Given the description of an element on the screen output the (x, y) to click on. 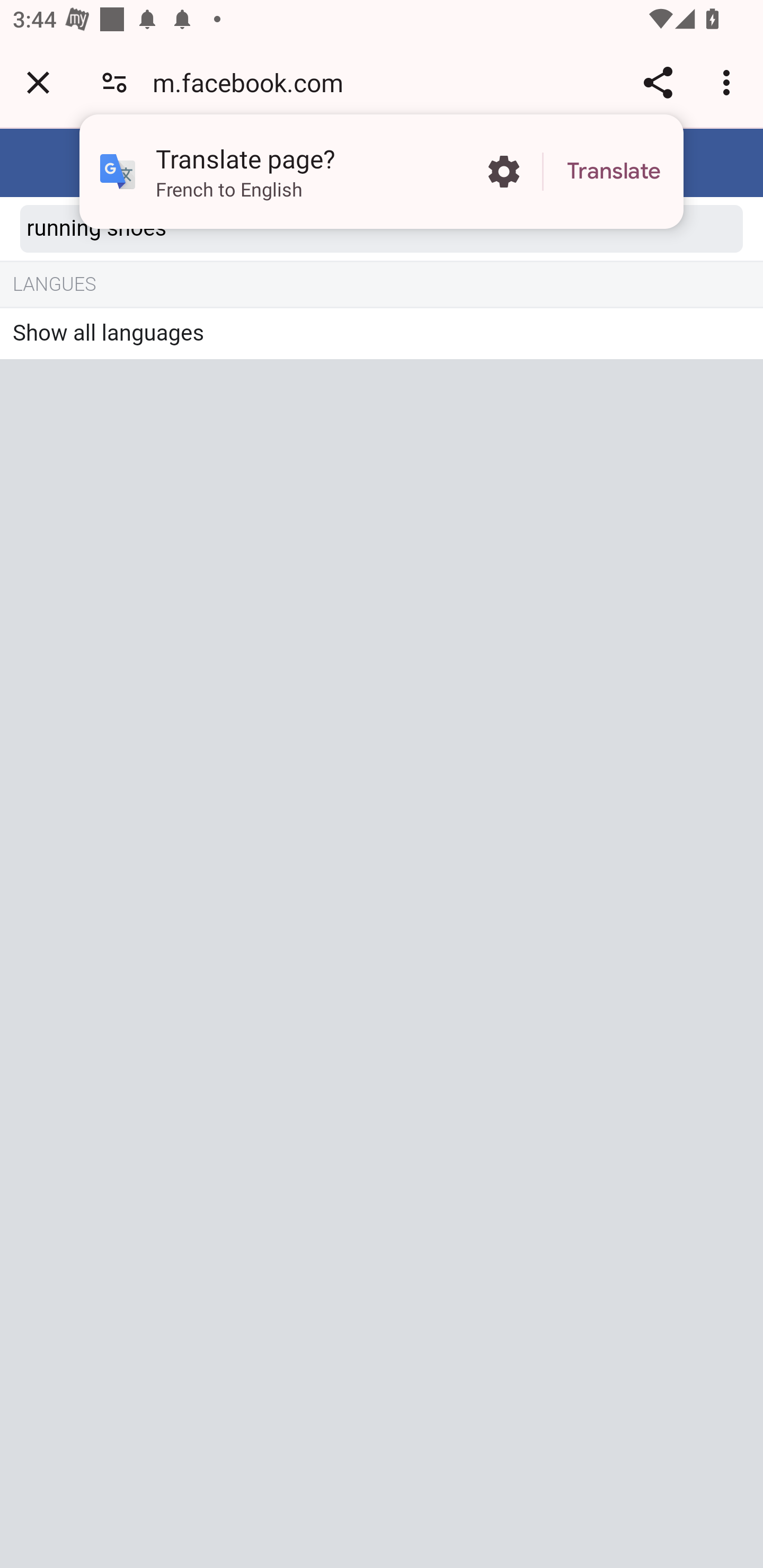
Close tab (38, 82)
Share (657, 82)
Customize and control Google Chrome (729, 82)
Connection is secure (114, 81)
m.facebook.com (254, 81)
Translate (613, 171)
More options in the Translate page? (503, 171)
